Given the description of an element on the screen output the (x, y) to click on. 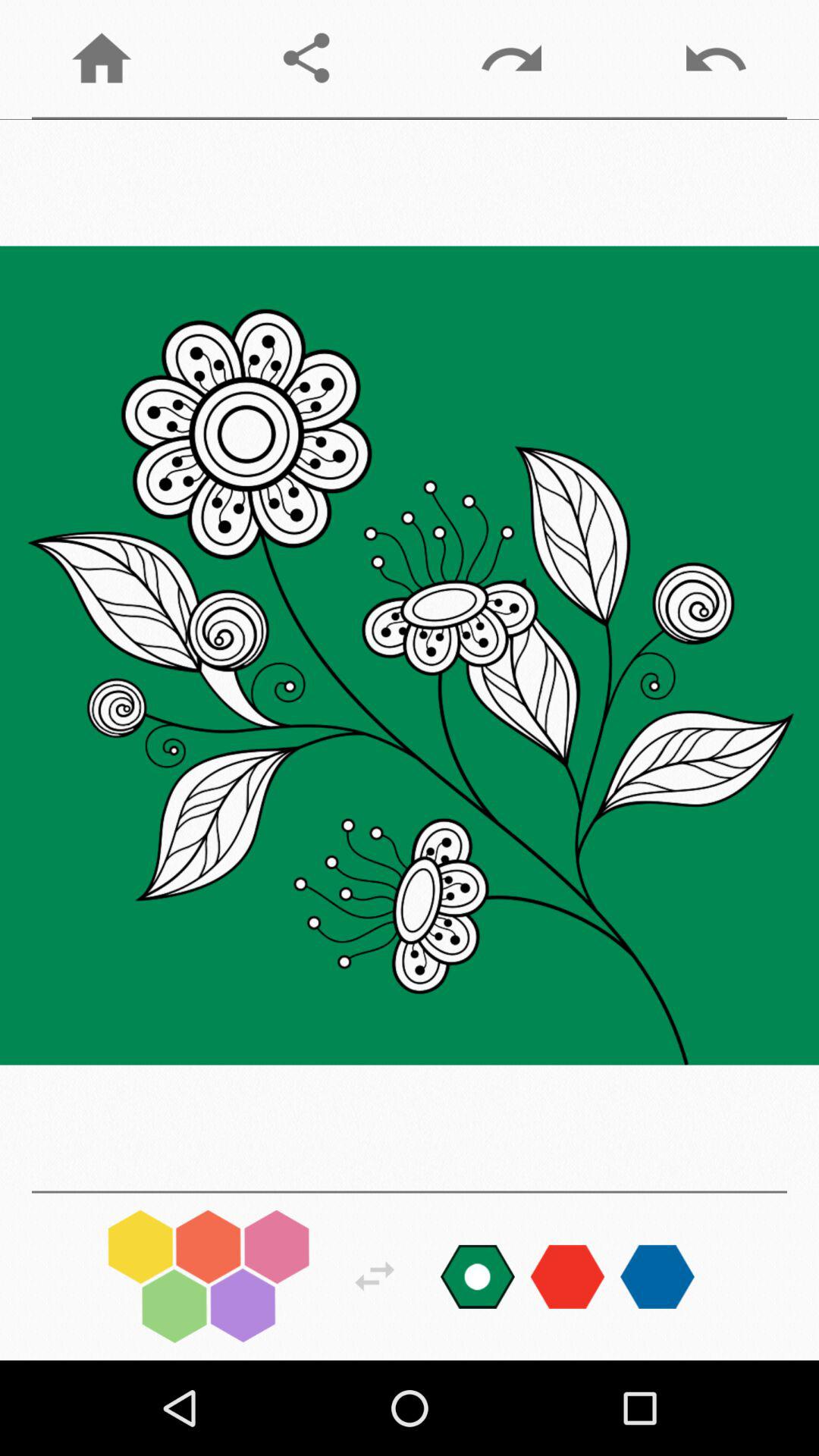
changes color palette (477, 1276)
